Given the description of an element on the screen output the (x, y) to click on. 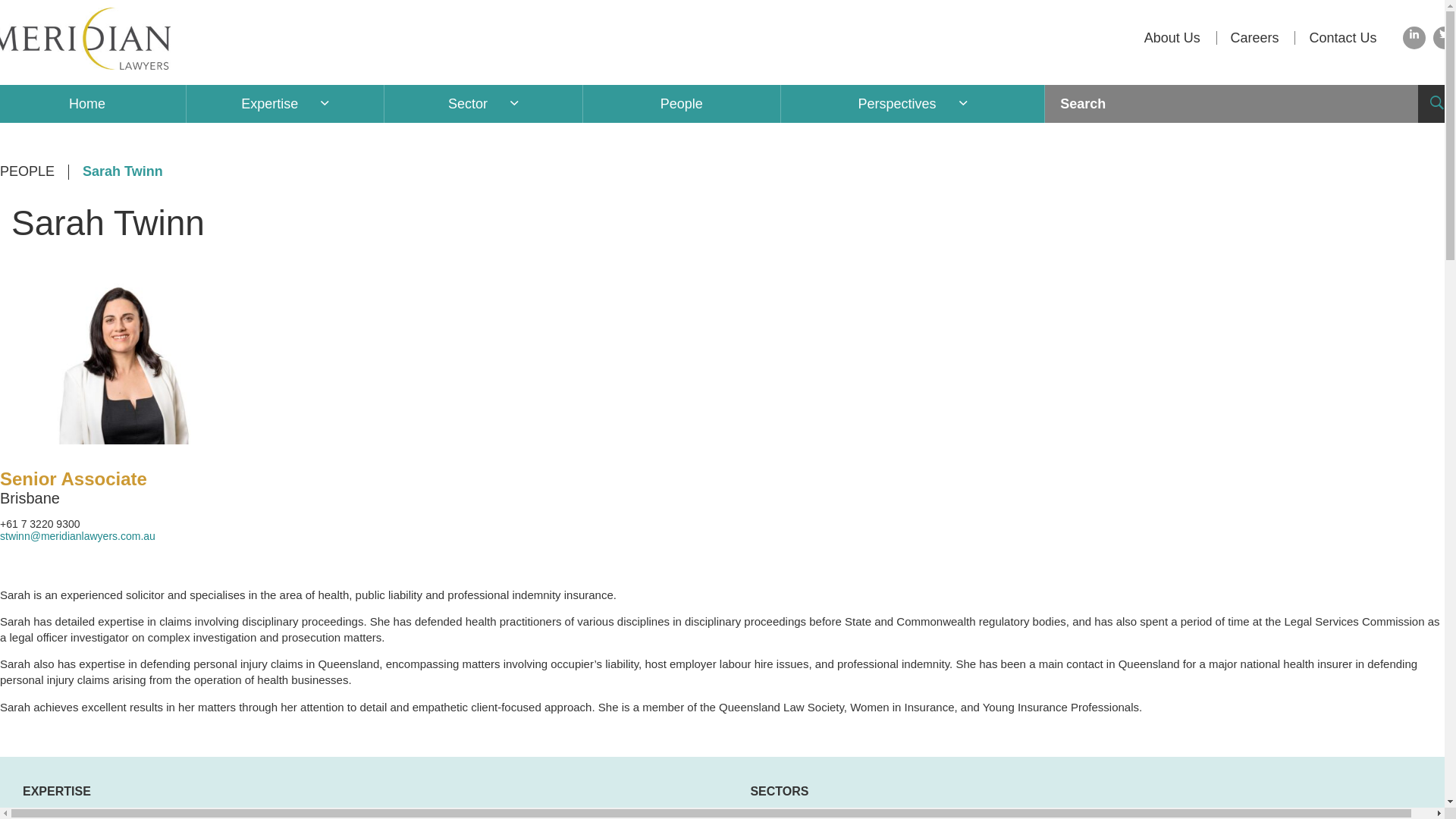
Home Element type: text (87, 103)
Perspectives Element type: text (897, 103)
Expertise Element type: text (269, 103)
About Us Element type: text (1172, 37)
Search Element type: hover (1231, 103)
Sarah Twinn Element type: text (122, 171)
LinkedIn Element type: hover (1413, 37)
Sector Element type: text (467, 103)
Careers Element type: text (1254, 37)
PEOPLE Element type: text (34, 171)
Contact Us Element type: text (1342, 37)
People Element type: text (681, 103)
stwinn@meridianlawyers.com.au Element type: text (77, 536)
